Given the description of an element on the screen output the (x, y) to click on. 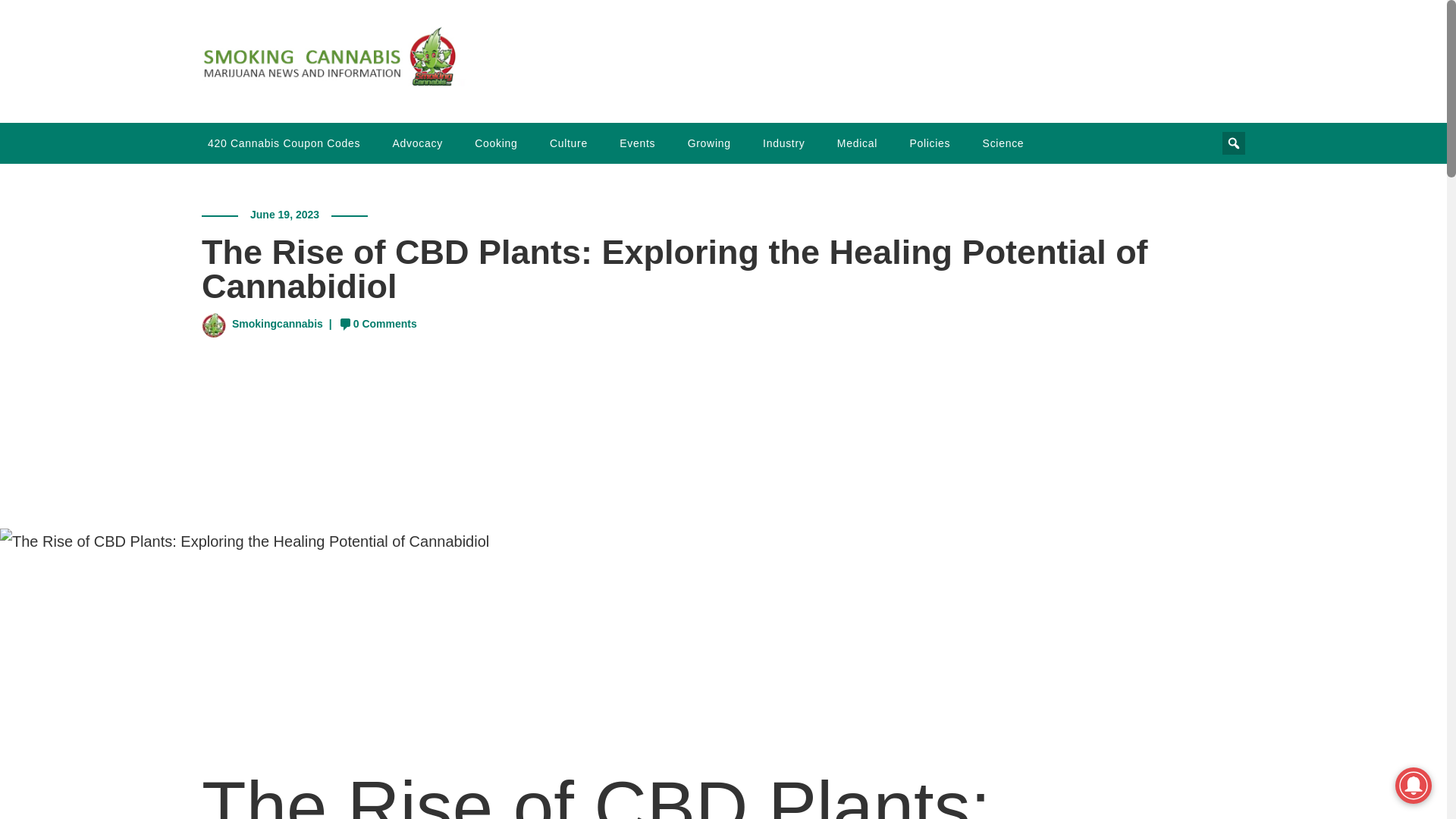
Medical (857, 142)
Cooking (495, 142)
Culture (568, 142)
Events (637, 142)
Industry (783, 142)
Smokingcannabis (277, 324)
420 Cannabis Coupon Codes (284, 142)
Advocacy (416, 142)
Policies (929, 142)
Science (1002, 142)
Growing (708, 142)
